Given the description of an element on the screen output the (x, y) to click on. 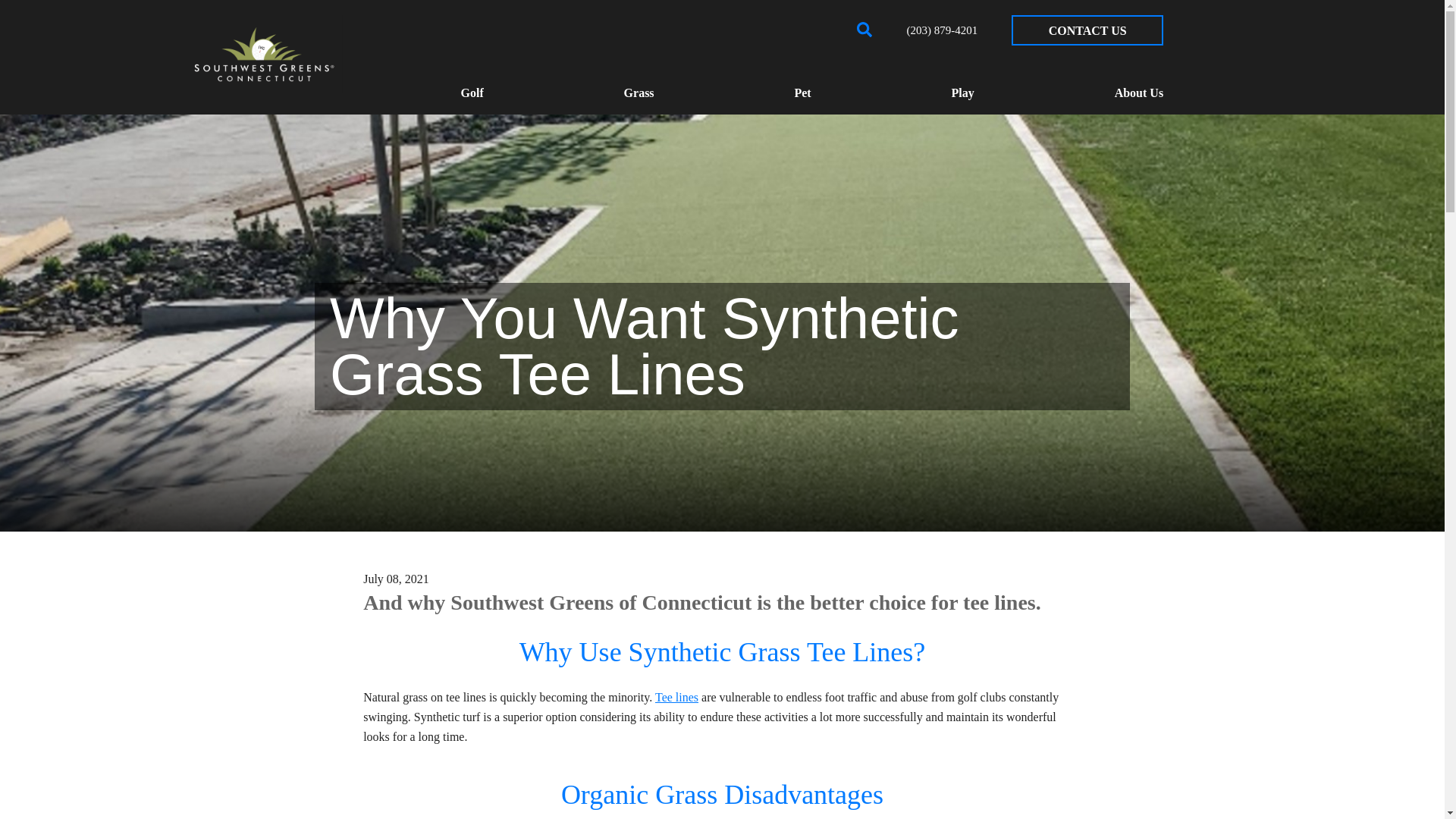
CONTACT US (1087, 30)
Southwest Greens of Connecticut Home (264, 54)
Open Search (864, 28)
